Given the description of an element on the screen output the (x, y) to click on. 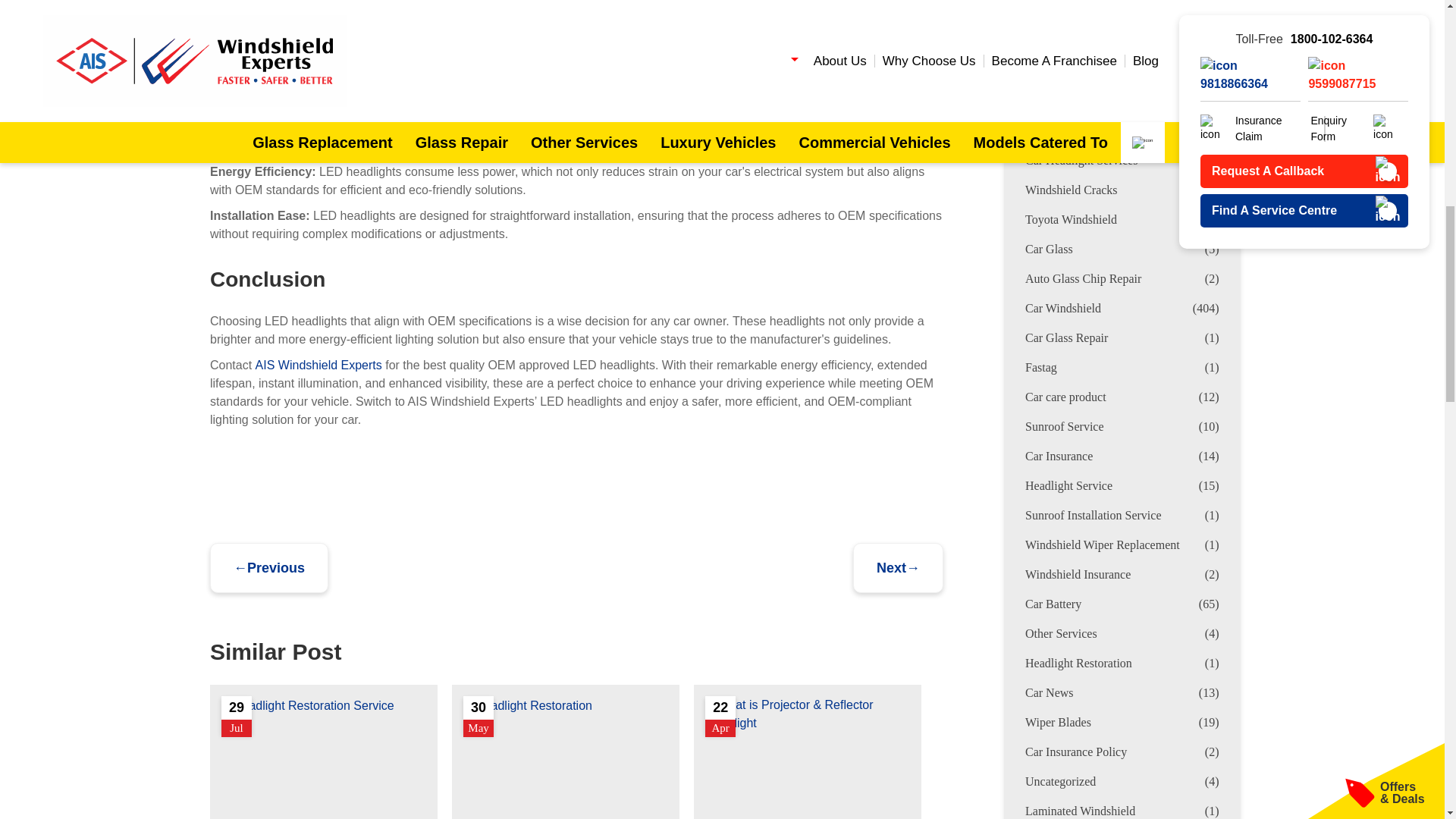
The Bright Side: Projector vs Reflector Headlight (807, 757)
Get Clear Vision Ahead: A Guide to Adjusting Car Headlights (323, 757)
How to Clean Car Headlights (527, 705)
Headlight Restoration Service (307, 705)
How Headlight Restoration Works (565, 757)
